Given the description of an element on the screen output the (x, y) to click on. 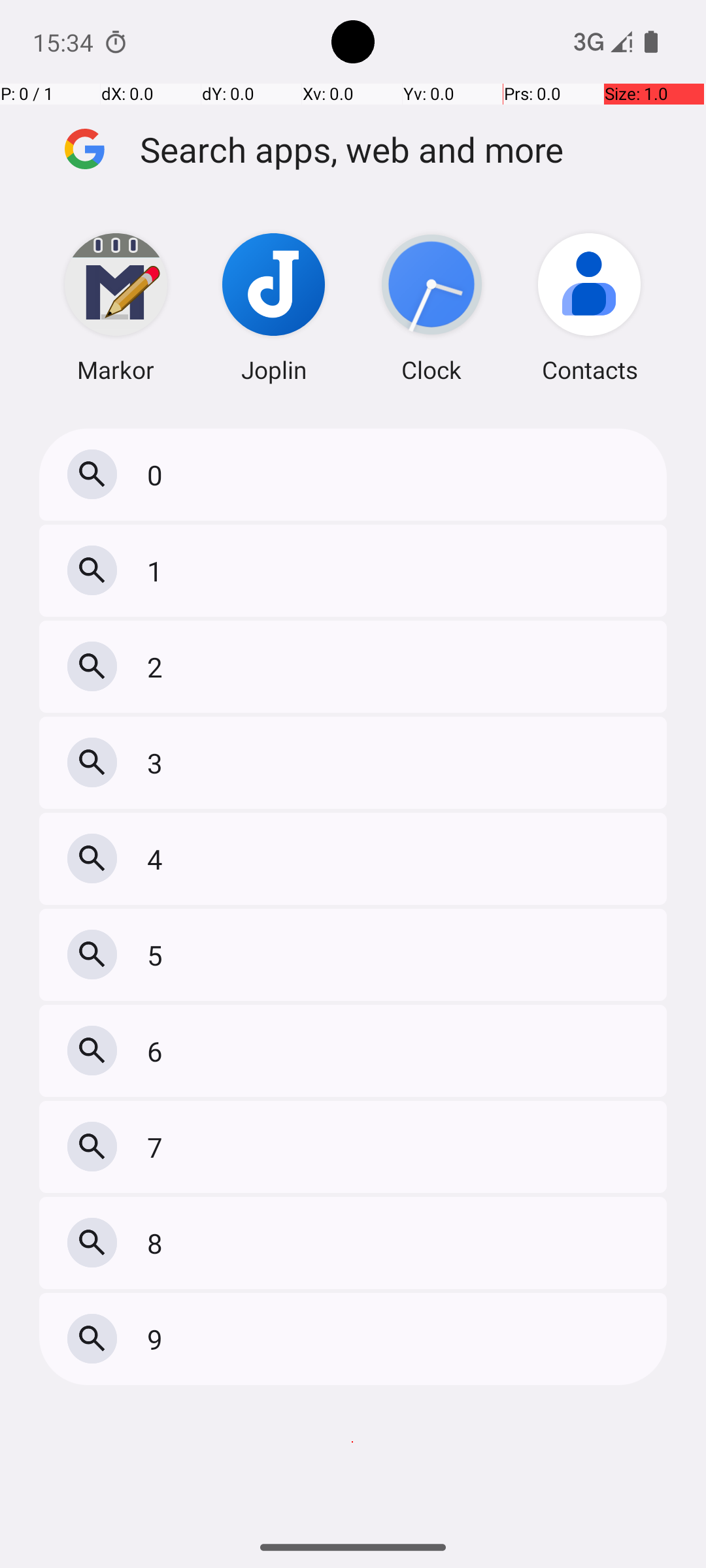
Search apps, web and more Element type: android.widget.EditText (403, 148)
